Given the description of an element on the screen output the (x, y) to click on. 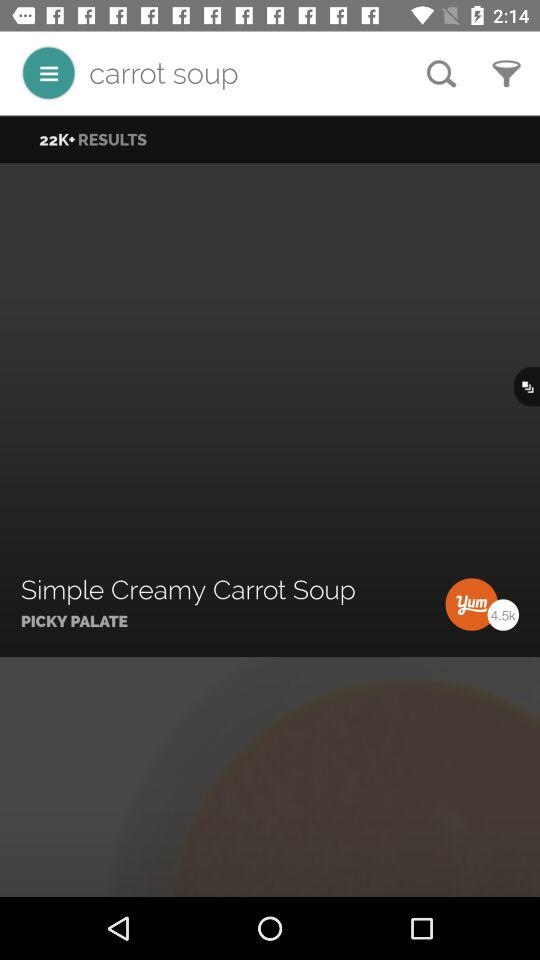
turn off icon next to the carrot soup (441, 73)
